Given the description of an element on the screen output the (x, y) to click on. 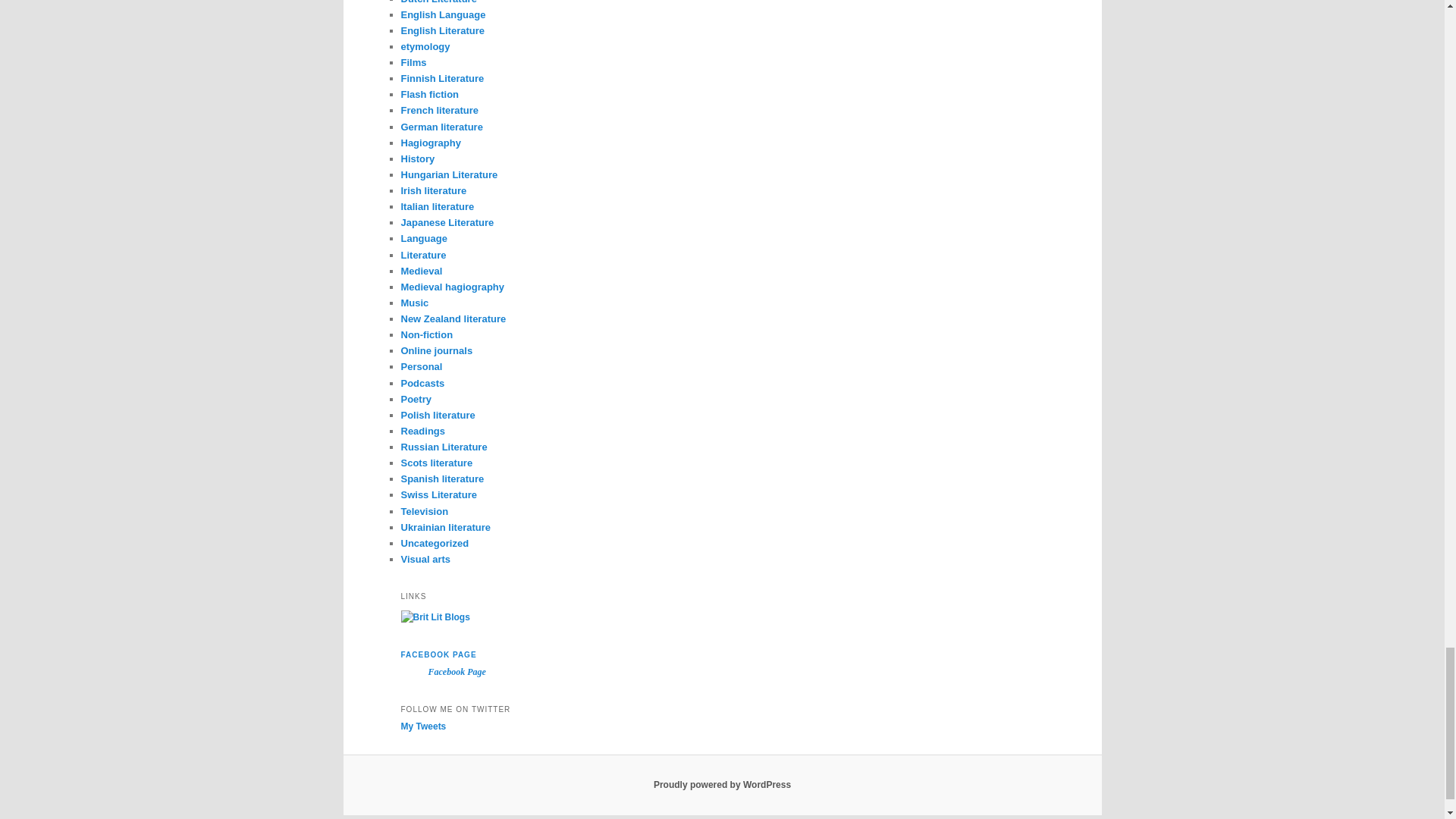
Semantic Personal Publishing Platform (721, 784)
